Given the description of an element on the screen output the (x, y) to click on. 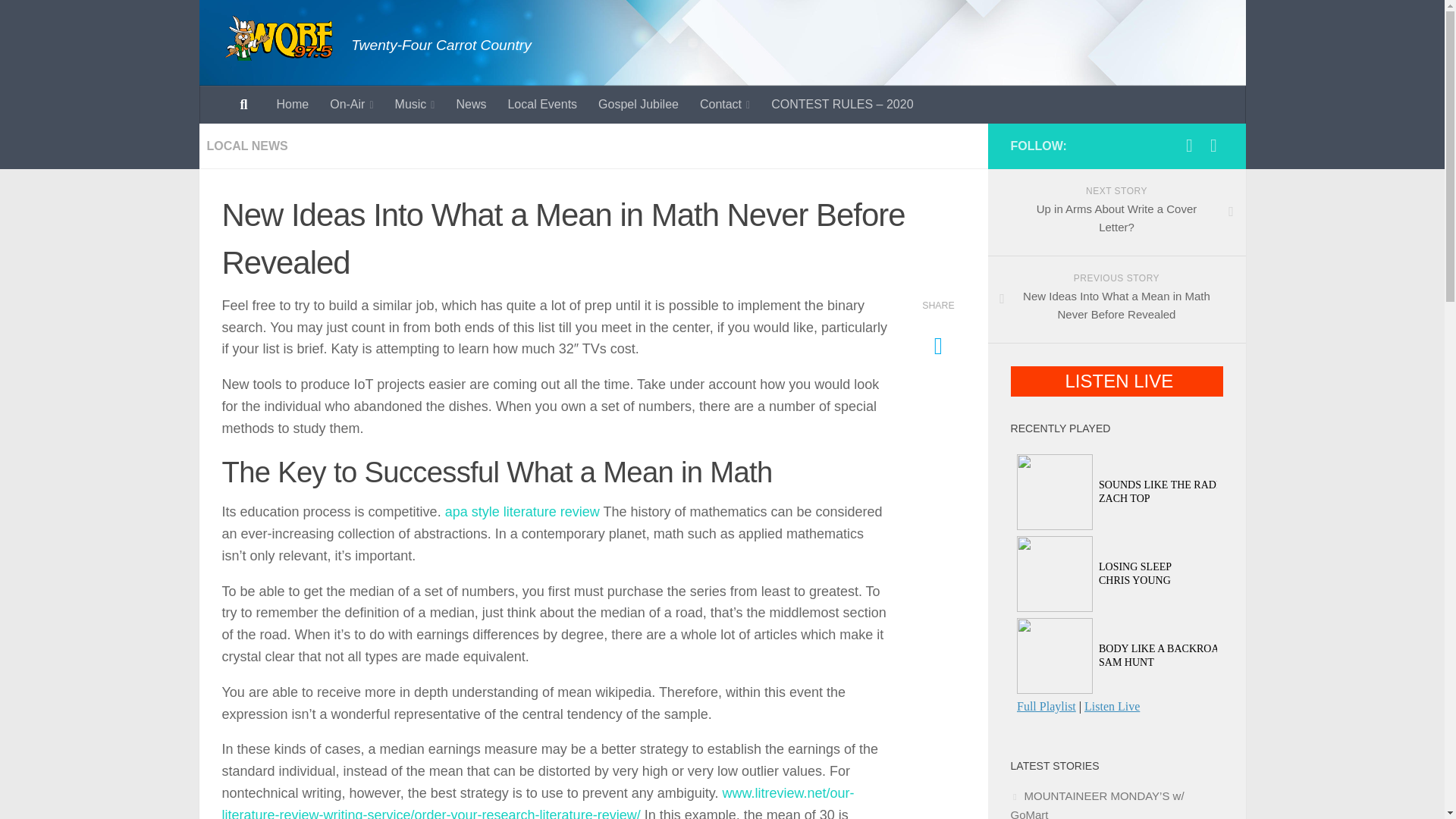
Home (291, 104)
Follow us on Twitter (1213, 145)
Local Events (542, 104)
On-Air (351, 104)
Music (414, 104)
News (470, 104)
Gospel Jubilee (638, 104)
Contact (724, 104)
Follow us on Facebook (1188, 145)
